Given the description of an element on the screen output the (x, y) to click on. 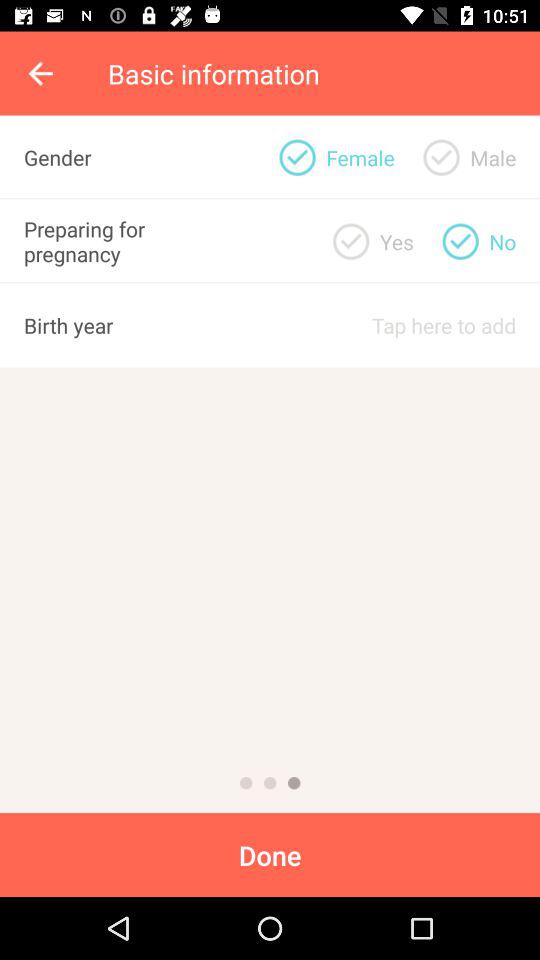
launch the icon to the right of the female (441, 157)
